Given the description of an element on the screen output the (x, y) to click on. 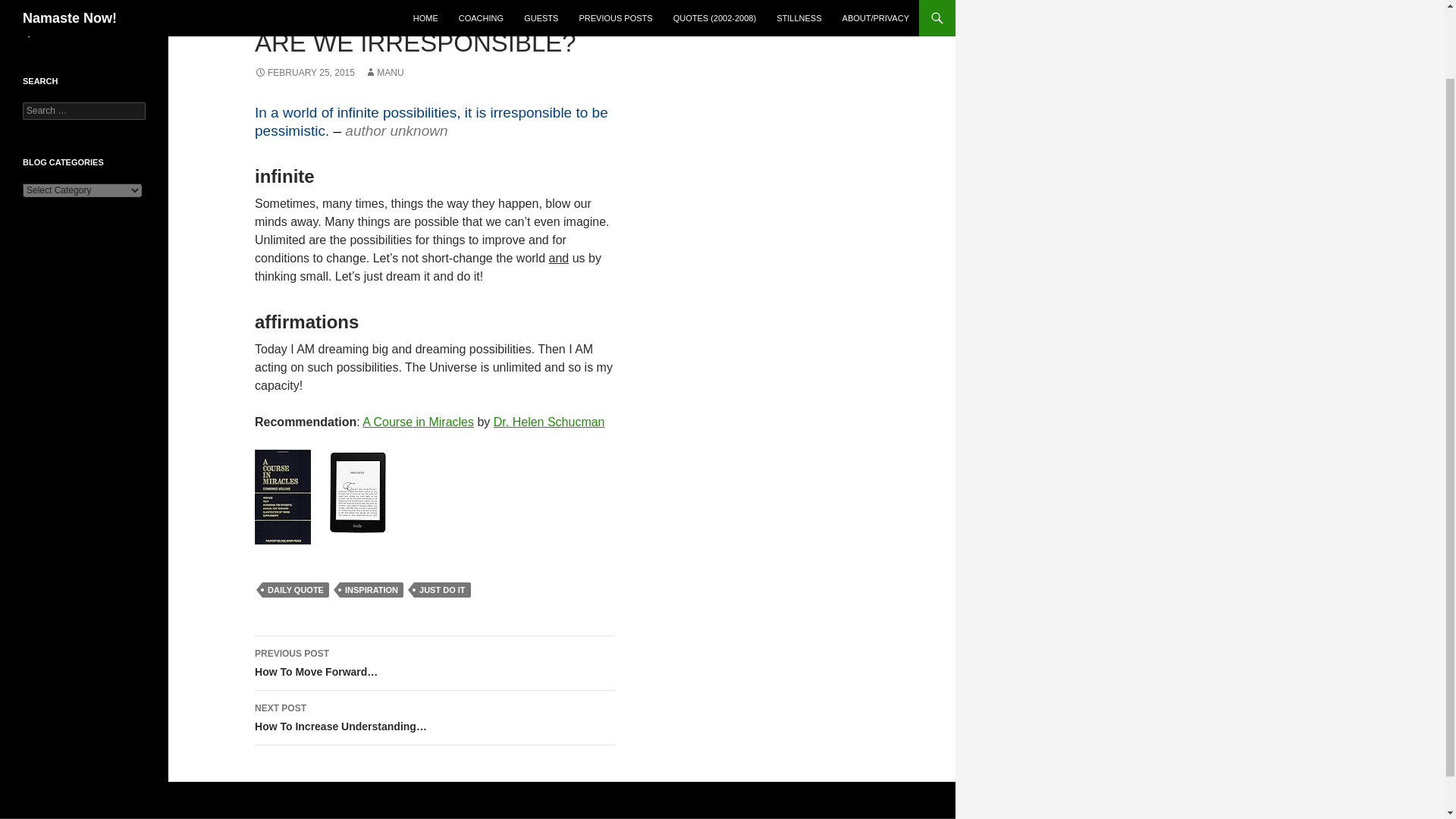
FEBRUARY 25, 2015 (304, 72)
DAILY QUOTE (295, 589)
Subscribe to Namaste Now! by Email (79, 24)
JUST DO IT (441, 589)
QUOTES - 2015 (287, 16)
INSPIRATION (371, 589)
A Course in Miracles (418, 421)
MANU (384, 72)
Dr. Helen Schucman (549, 421)
